Given the description of an element on the screen output the (x, y) to click on. 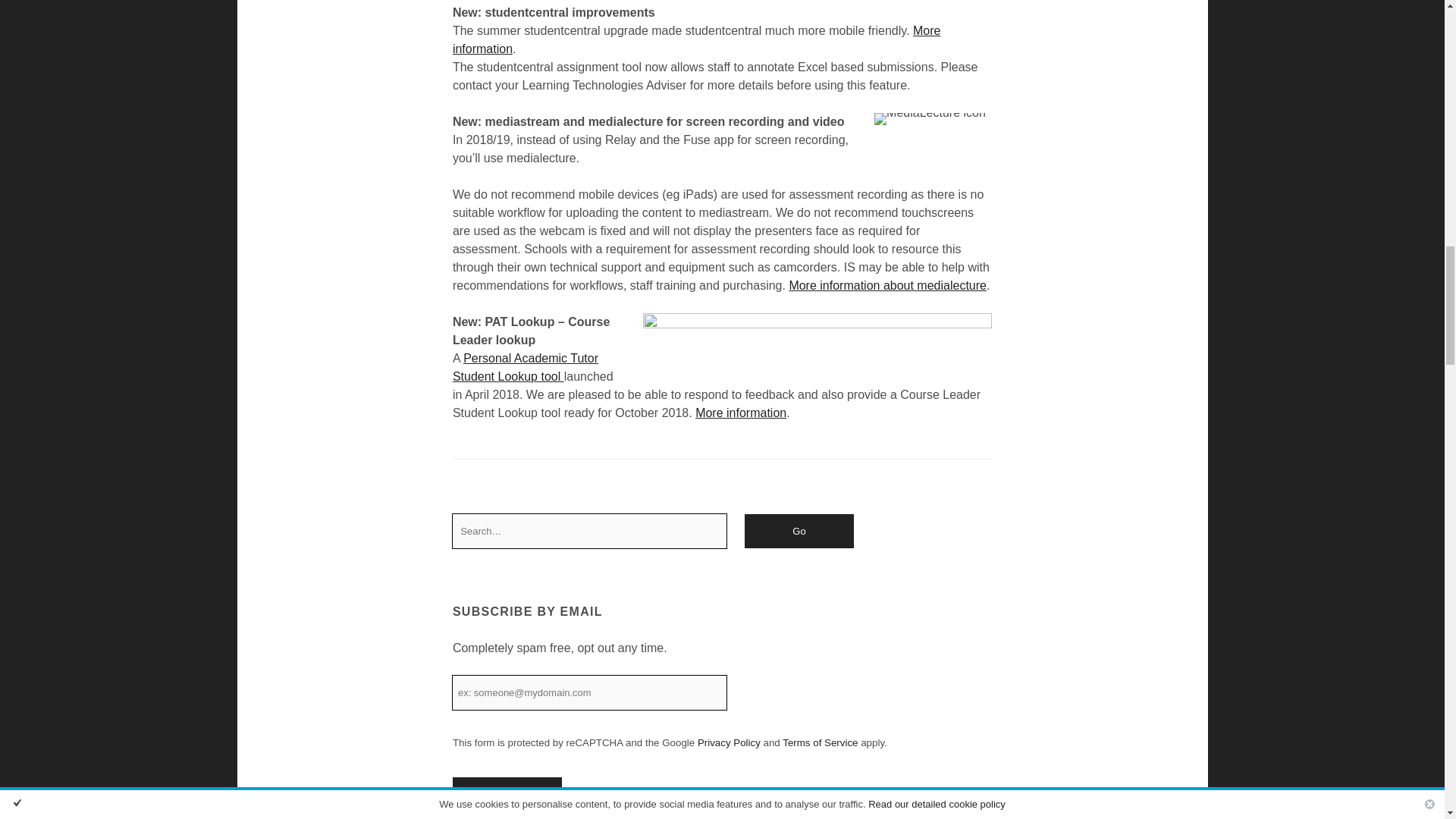
Go (798, 530)
Go (798, 530)
More information (740, 412)
Subscribe (507, 794)
More information (696, 39)
More information about medialecture (888, 285)
Go (798, 530)
Terms of Service (820, 742)
Privacy Policy (728, 742)
Personal Academic Tutor Student Lookup tool (525, 367)
Subscribe (507, 794)
Search for: (589, 530)
